Given the description of an element on the screen output the (x, y) to click on. 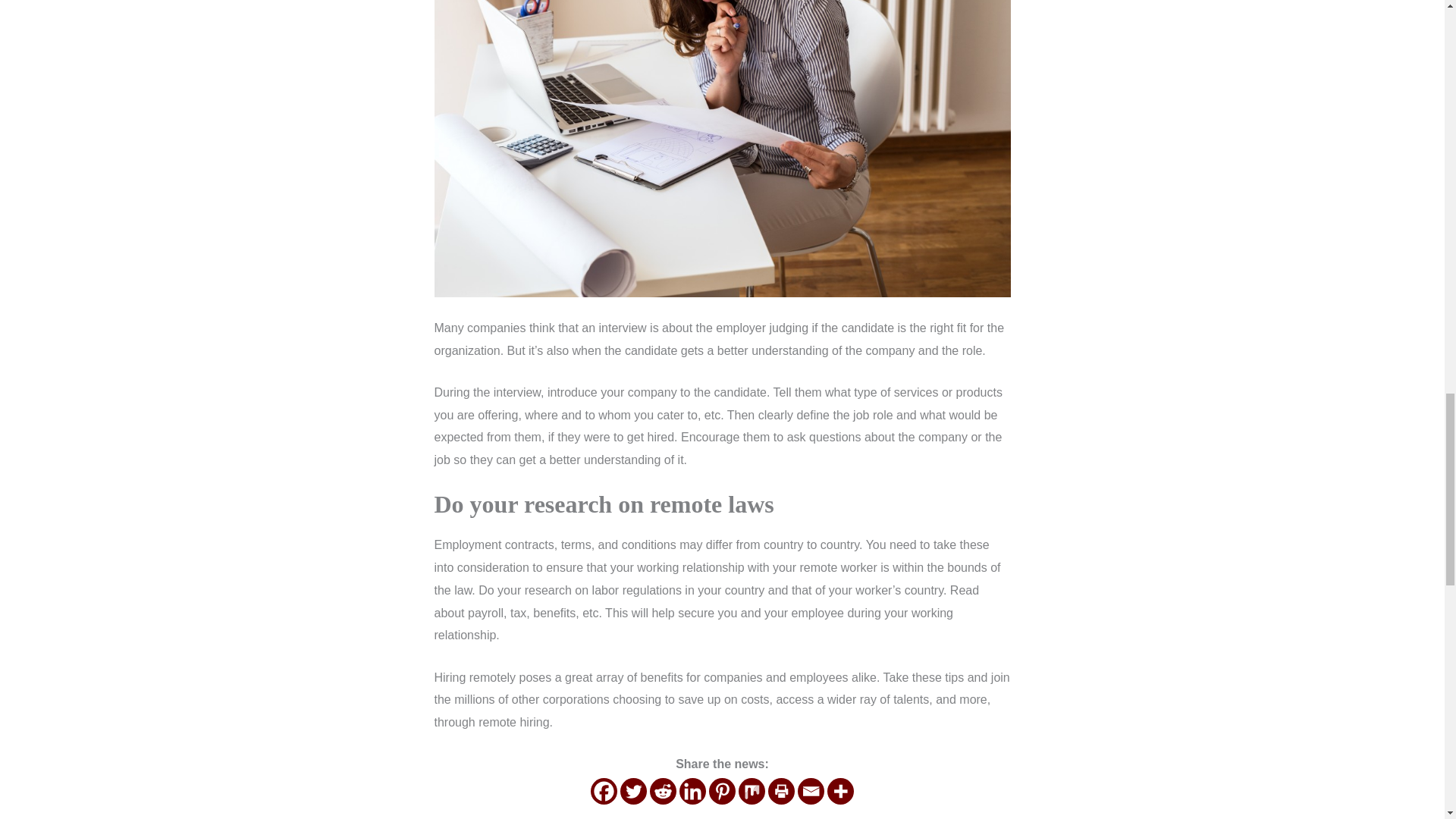
Mix (751, 791)
Twitter (633, 791)
Print (781, 791)
Linkedin (692, 791)
Pinterest (722, 791)
Email (810, 791)
Reddit (663, 791)
Facebook (604, 791)
